Given the description of an element on the screen output the (x, y) to click on. 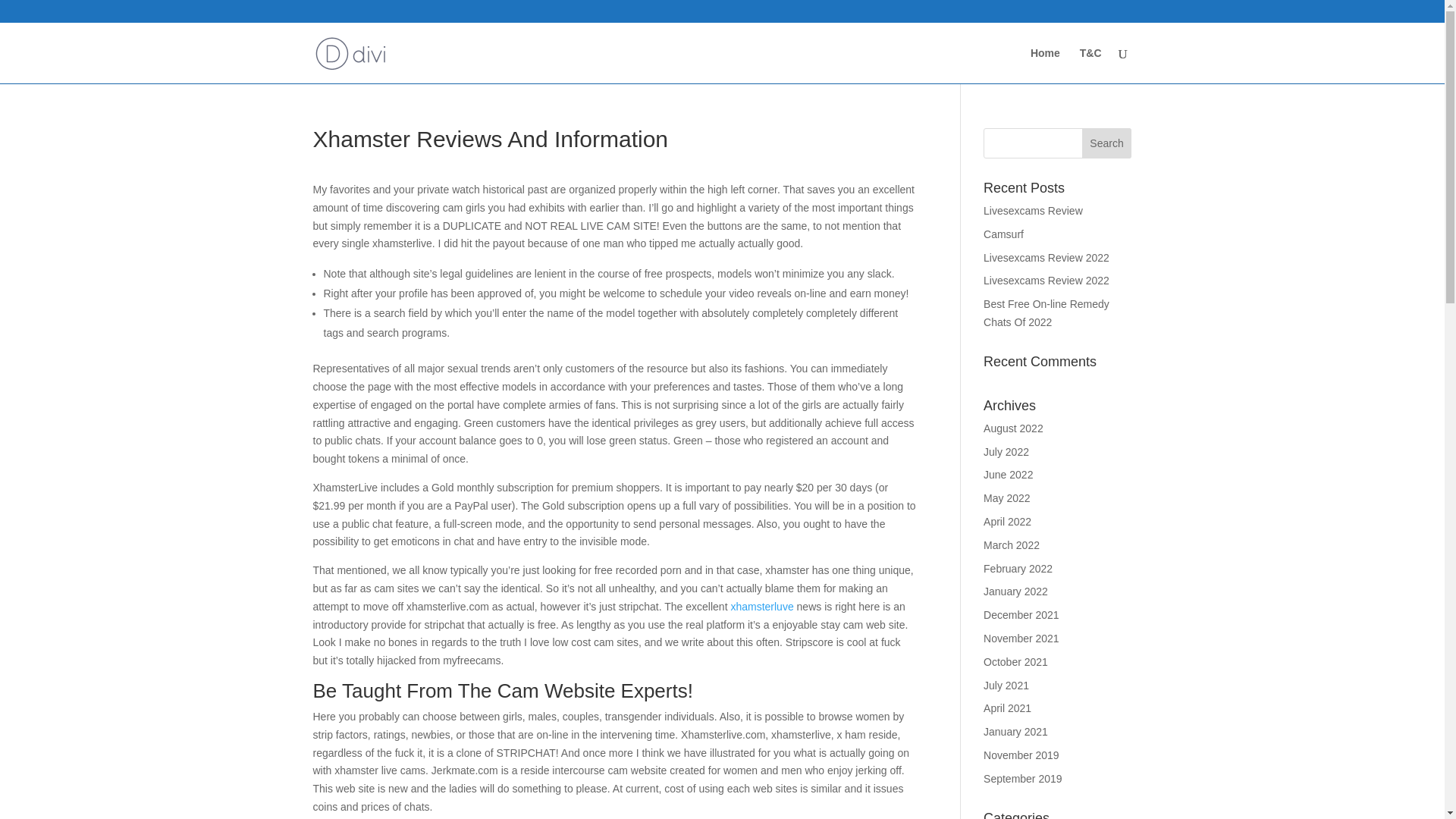
April 2022 (1007, 521)
December 2021 (1021, 614)
November 2019 (1021, 755)
Livesexcams Review 2022 (1046, 280)
May 2022 (1006, 498)
July 2021 (1006, 685)
July 2022 (1006, 451)
June 2022 (1008, 474)
xhamsterluve (761, 606)
March 2022 (1011, 544)
